Given the description of an element on the screen output the (x, y) to click on. 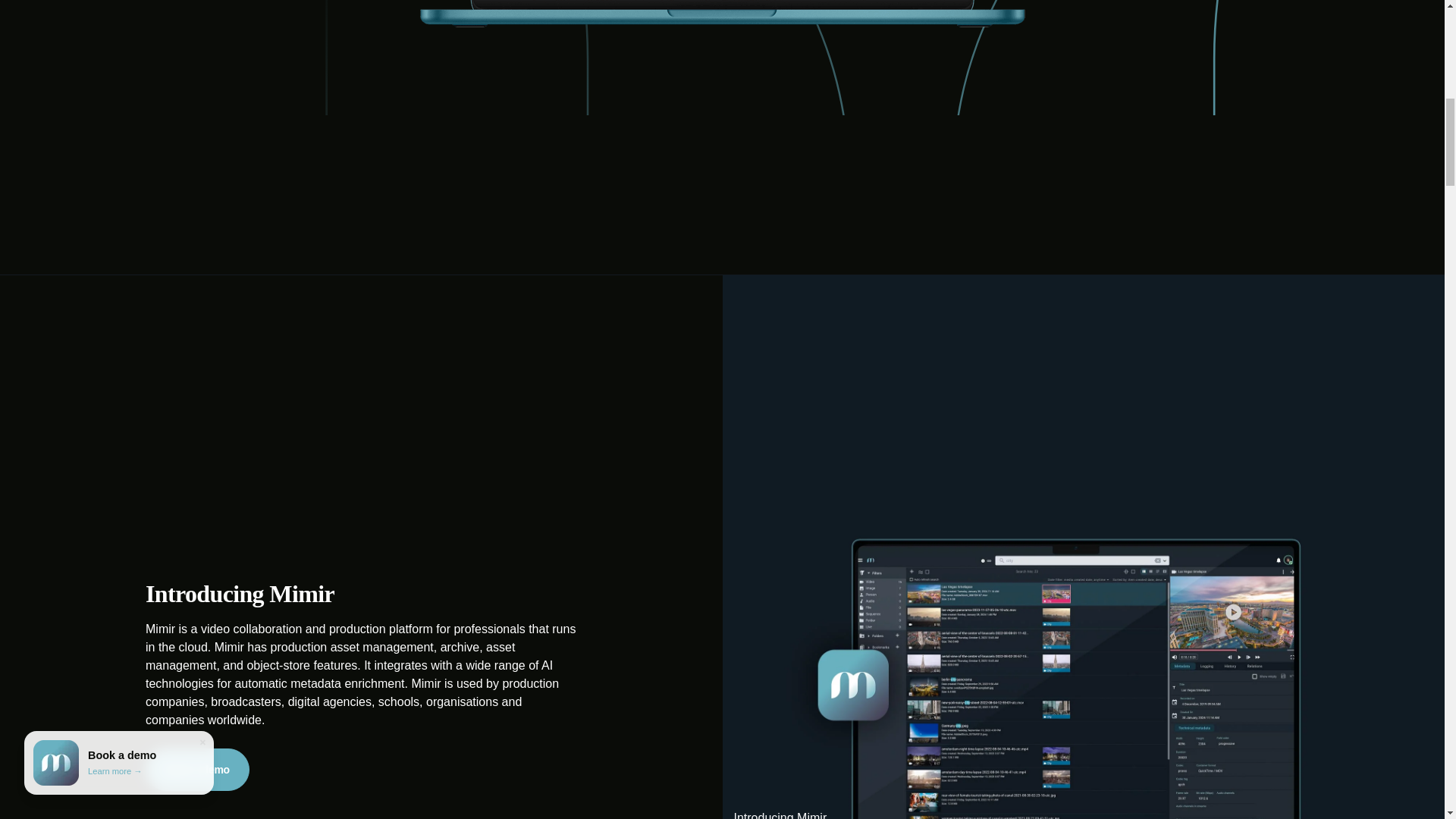
Book a demo (196, 769)
